Given the description of an element on the screen output the (x, y) to click on. 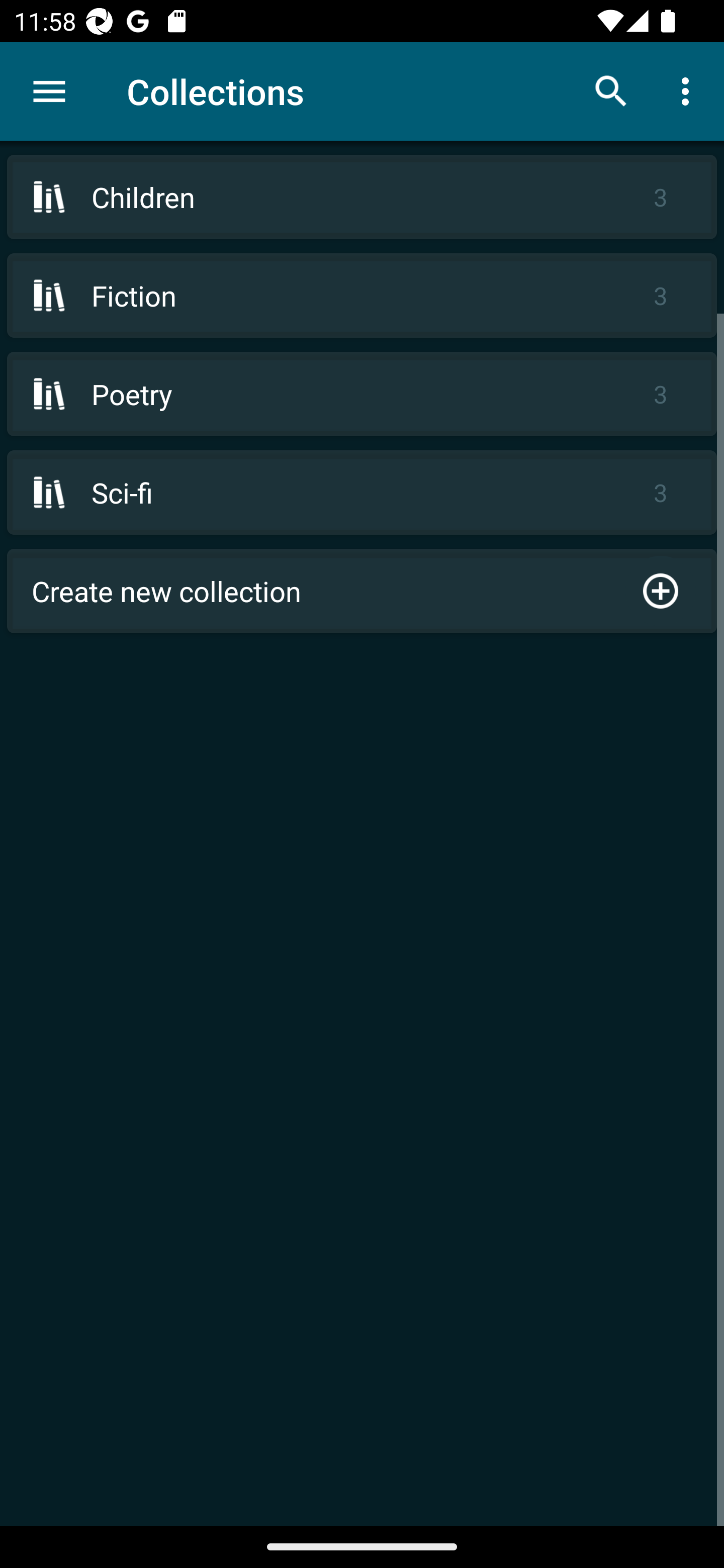
Menu (49, 91)
Search books & documents (611, 90)
More options (688, 90)
Children 3 (361, 197)
Fiction 3 (361, 295)
Poetry 3 (361, 393)
Sci-fi 3 (361, 492)
Create new collection (361, 590)
